Given the description of an element on the screen output the (x, y) to click on. 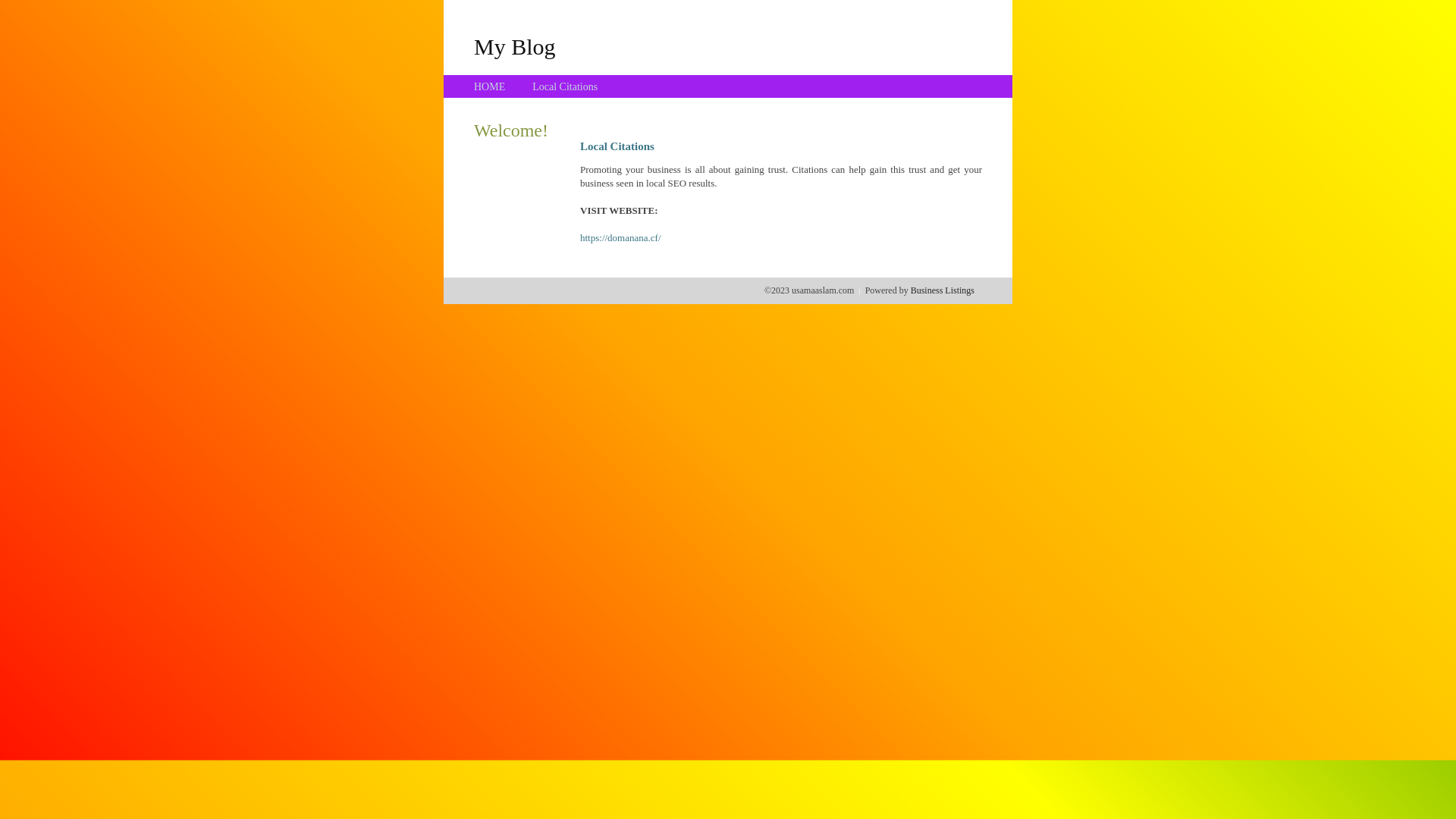
My Blog Element type: text (514, 46)
Business Listings Element type: text (942, 290)
Local Citations Element type: text (564, 86)
HOME Element type: text (489, 86)
https://domanana.cf/ Element type: text (620, 237)
